Given the description of an element on the screen output the (x, y) to click on. 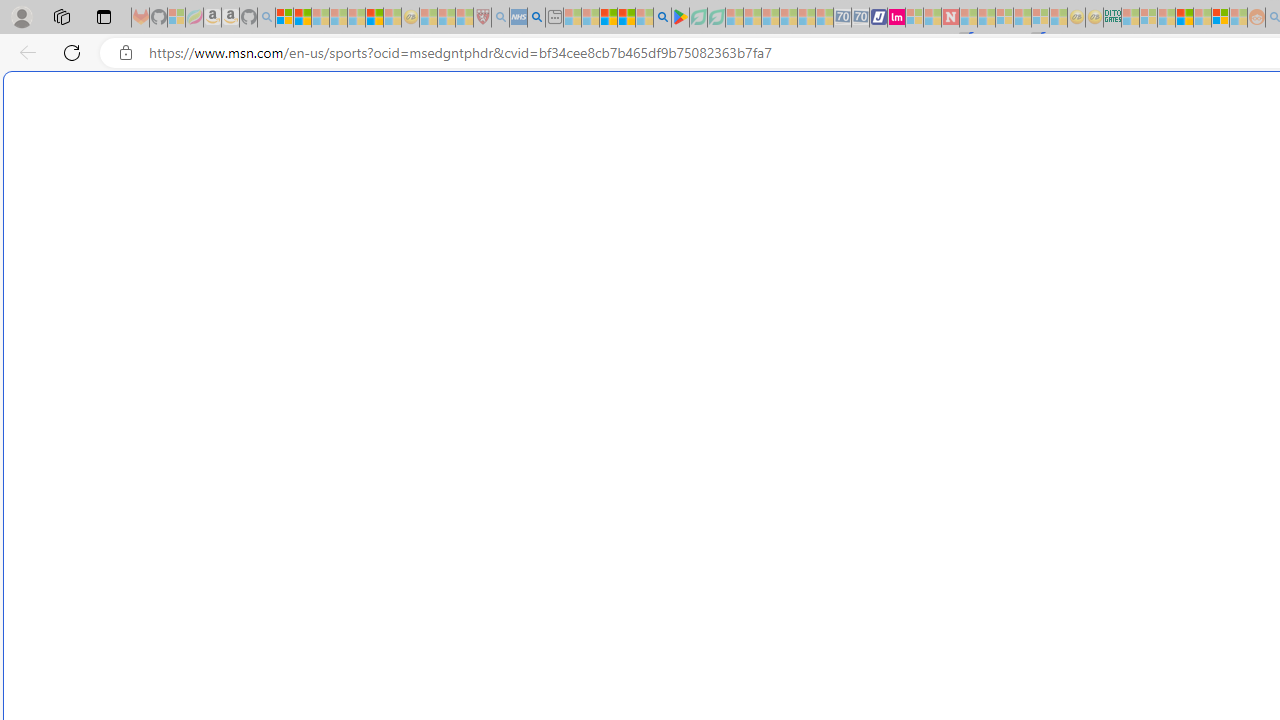
Expert Portfolios (1184, 17)
